Given the description of an element on the screen output the (x, y) to click on. 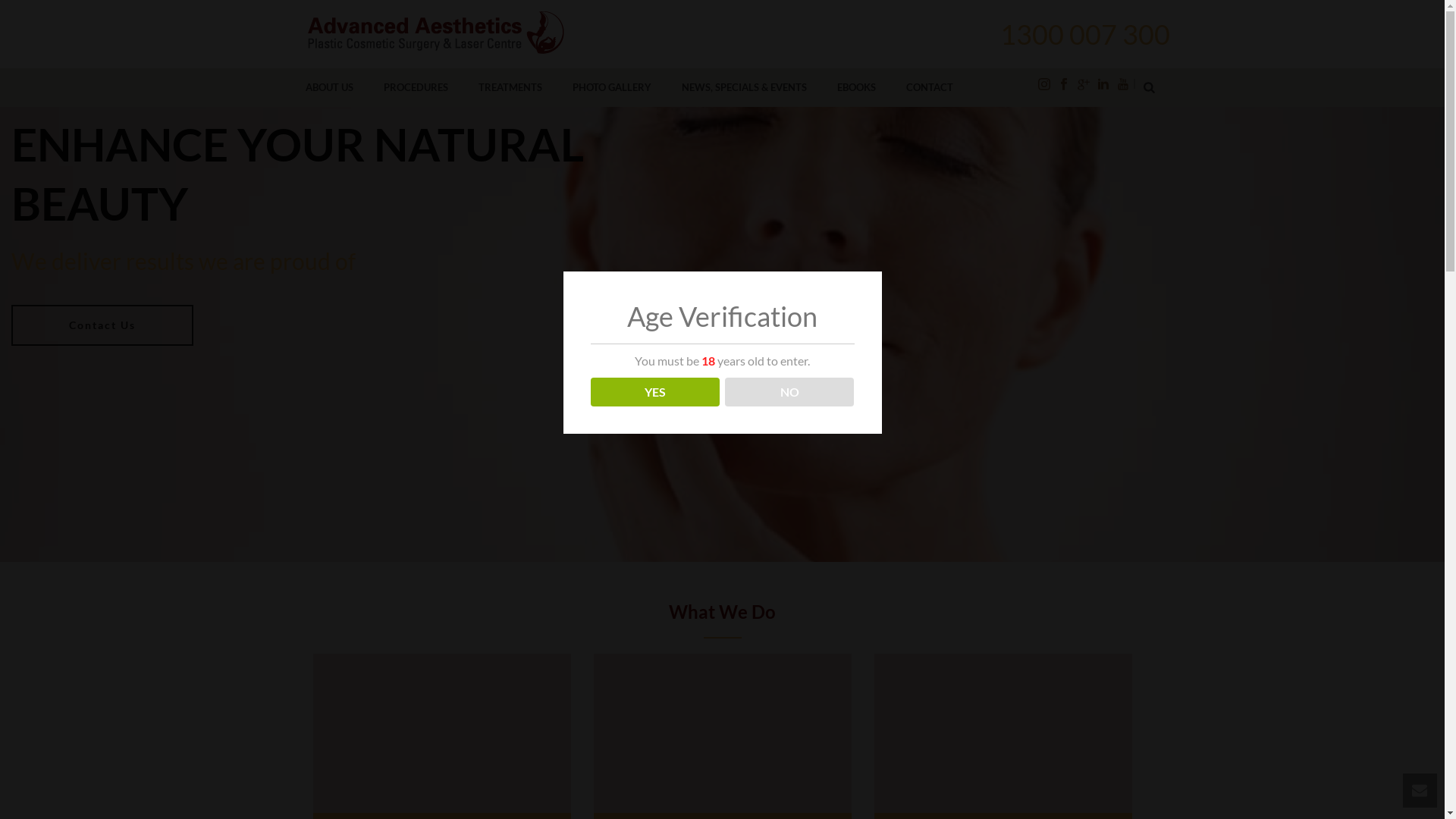
1300 007 300 Element type: text (1078, 34)
NO Element type: text (789, 391)
Contact Us Element type: text (102, 324)
YES Element type: text (655, 391)
PHOTO GALLERY Element type: text (610, 87)
CONTACT Element type: text (928, 87)
PROCEDURES Element type: text (415, 87)
TREATMENTS Element type: text (509, 87)
Advanced Aesthetics Element type: hover (435, 34)
ABOUT US Element type: text (328, 87)
NEWS, SPECIALS & EVENTS Element type: text (743, 87)
Plastic Cosmetic Surgery & Laser Centre Element type: hover (435, 34)
EBOOKS Element type: text (856, 87)
